Given the description of an element on the screen output the (x, y) to click on. 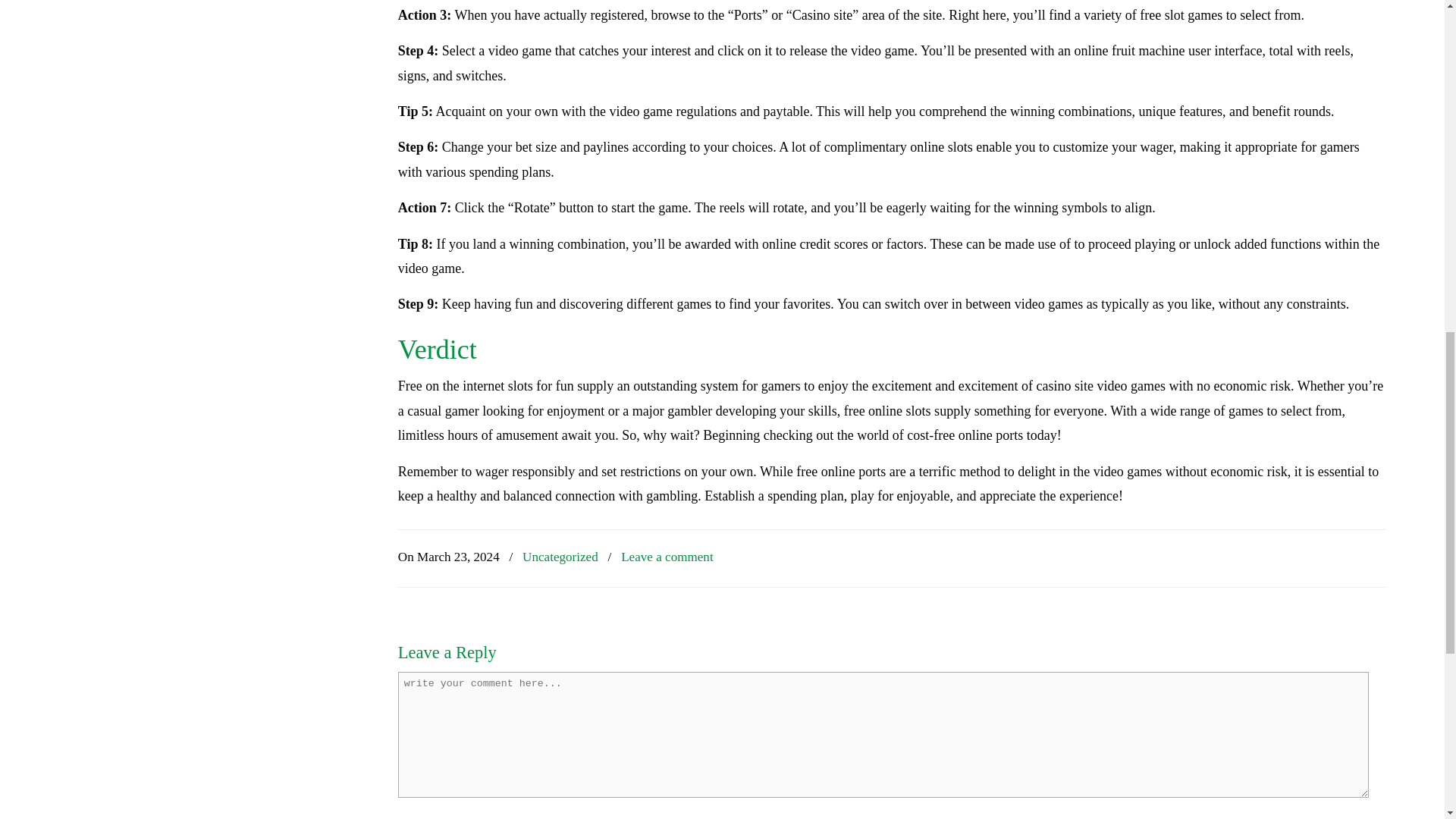
Leave a comment (667, 557)
Uncategorized (560, 557)
